Given the description of an element on the screen output the (x, y) to click on. 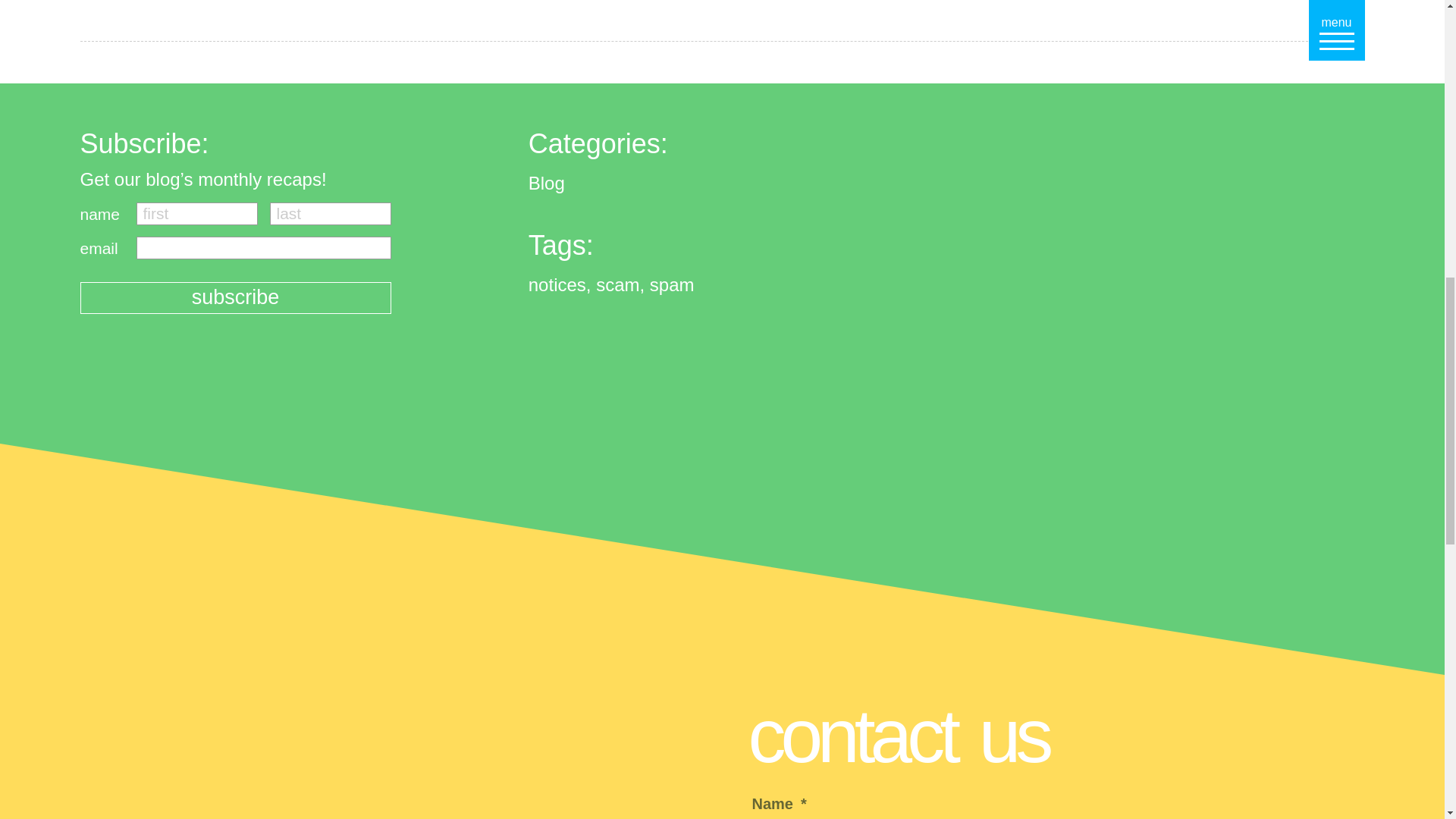
spam (671, 284)
notices (559, 284)
subscribe (235, 297)
Blog (546, 182)
scam (620, 284)
